Given the description of an element on the screen output the (x, y) to click on. 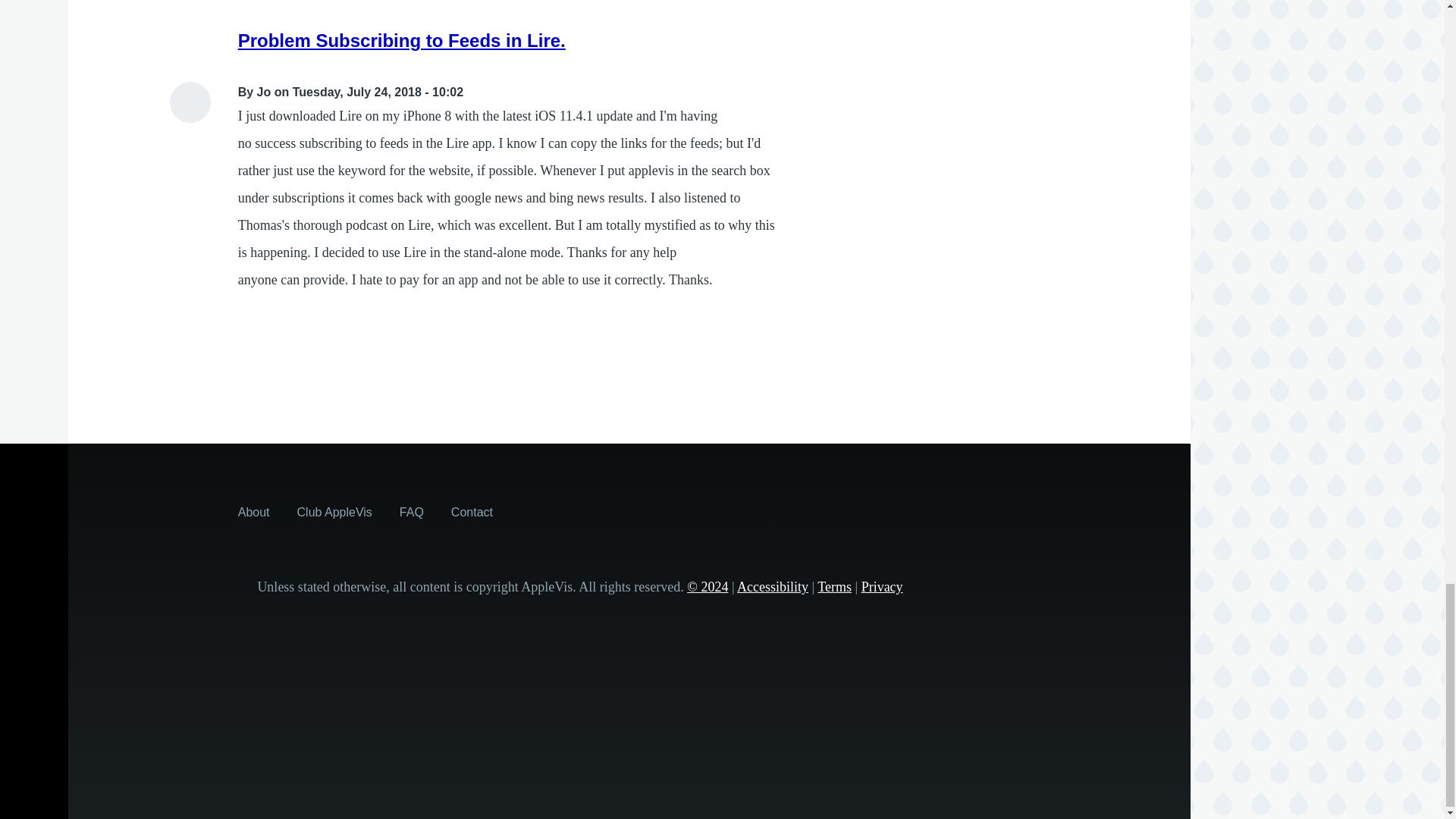
FAQ (410, 511)
Answers to some frequently asked questions about AppleVis (410, 511)
Club AppleVis (334, 511)
About (253, 511)
Contact (472, 511)
Problem Subscribing to Feeds in Lire. (402, 40)
About (253, 511)
